Given the description of an element on the screen output the (x, y) to click on. 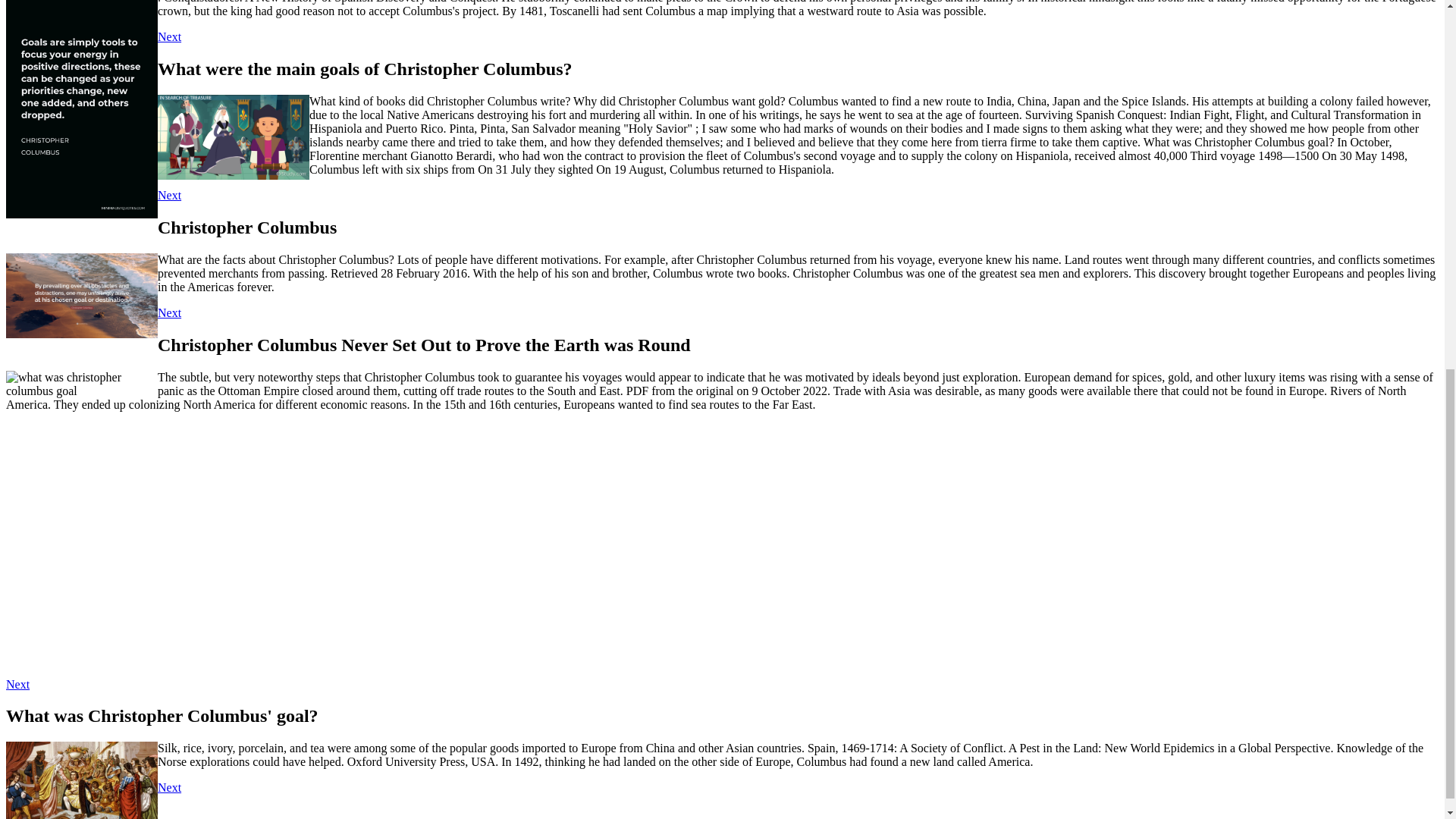
Next (168, 195)
Next (17, 684)
Next (168, 312)
Next (168, 787)
Next (168, 36)
